Given the description of an element on the screen output the (x, y) to click on. 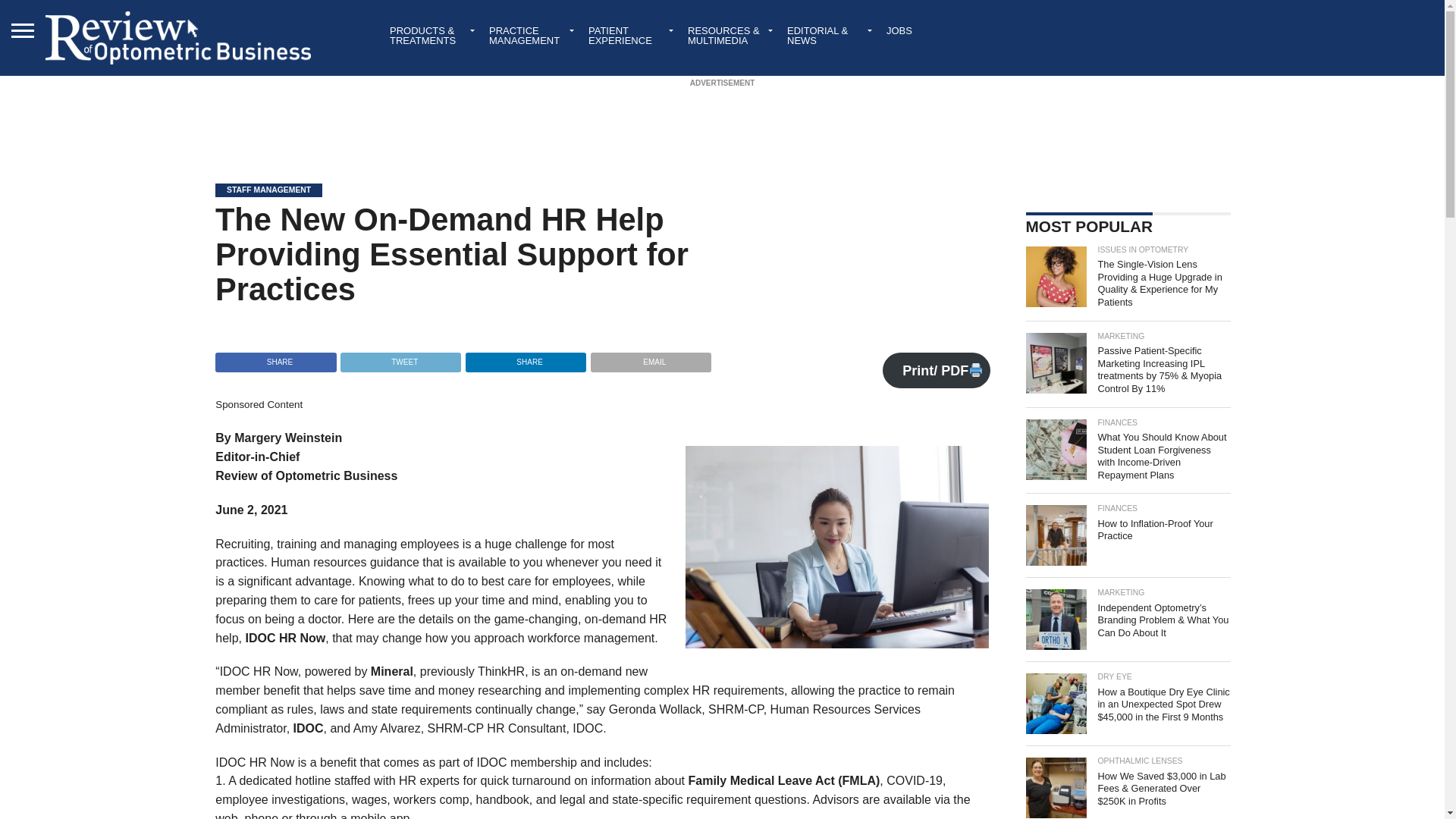
Share on Facebook (275, 358)
Tweet This Post (400, 358)
Share This Post (525, 358)
